Given the description of an element on the screen output the (x, y) to click on. 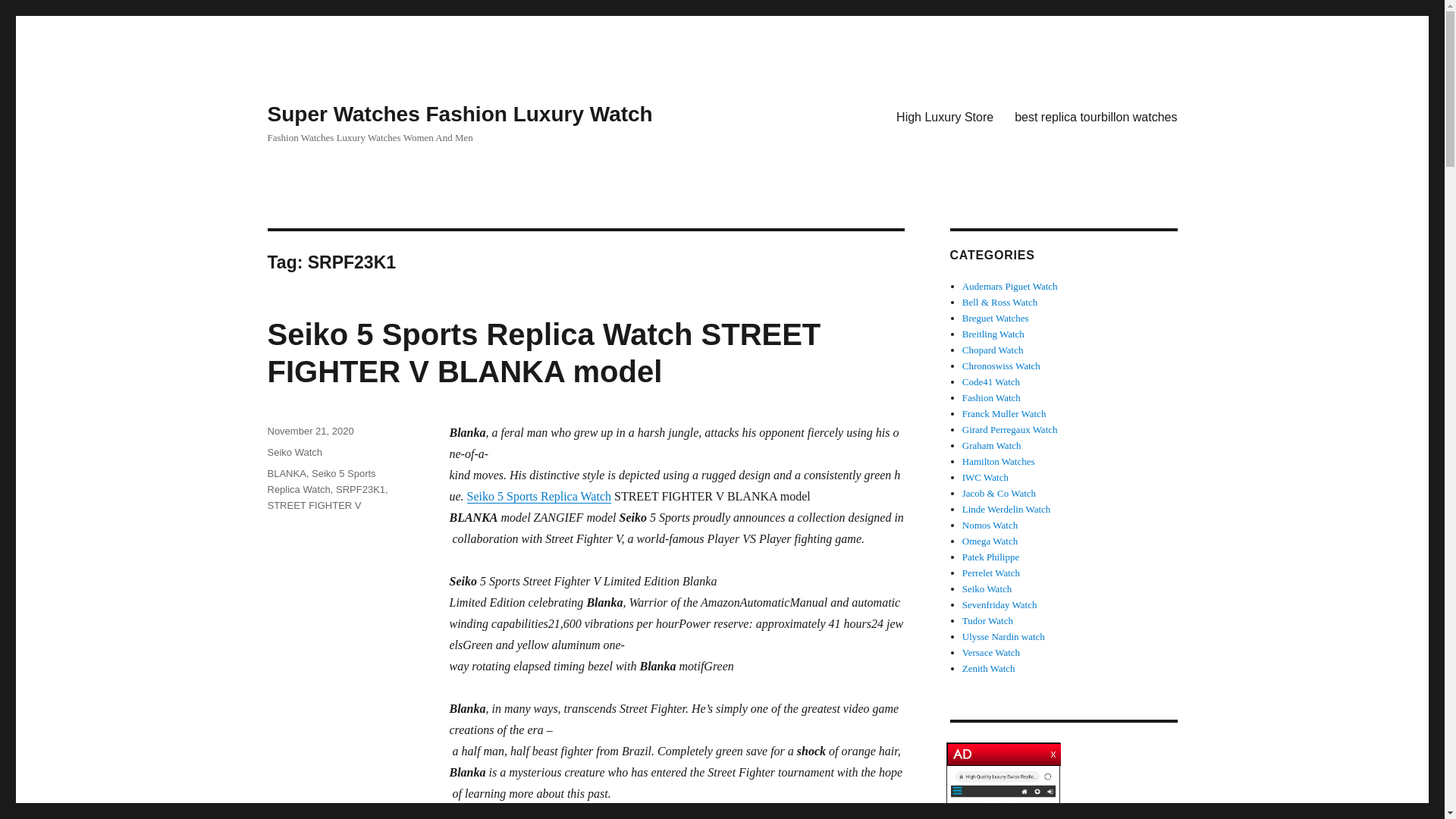
Super Watches Fashion Luxury Watch (459, 114)
STREET FIGHTER V (313, 505)
Seiko 5 Sports Replica Watch (320, 481)
BLANKA (285, 473)
Seiko Watch (293, 451)
Seiko 5 Sports Replica Watch (539, 495)
November 21, 2020 (309, 430)
High Luxury Store (944, 116)
Close (1054, 750)
best replica tourbillon watches (1096, 116)
SRPF23K1 (360, 489)
Click Now (1002, 794)
Seiko 5 Sports Replica Watch STREET FIGHTER V BLANKA model (543, 352)
